Given the description of an element on the screen output the (x, y) to click on. 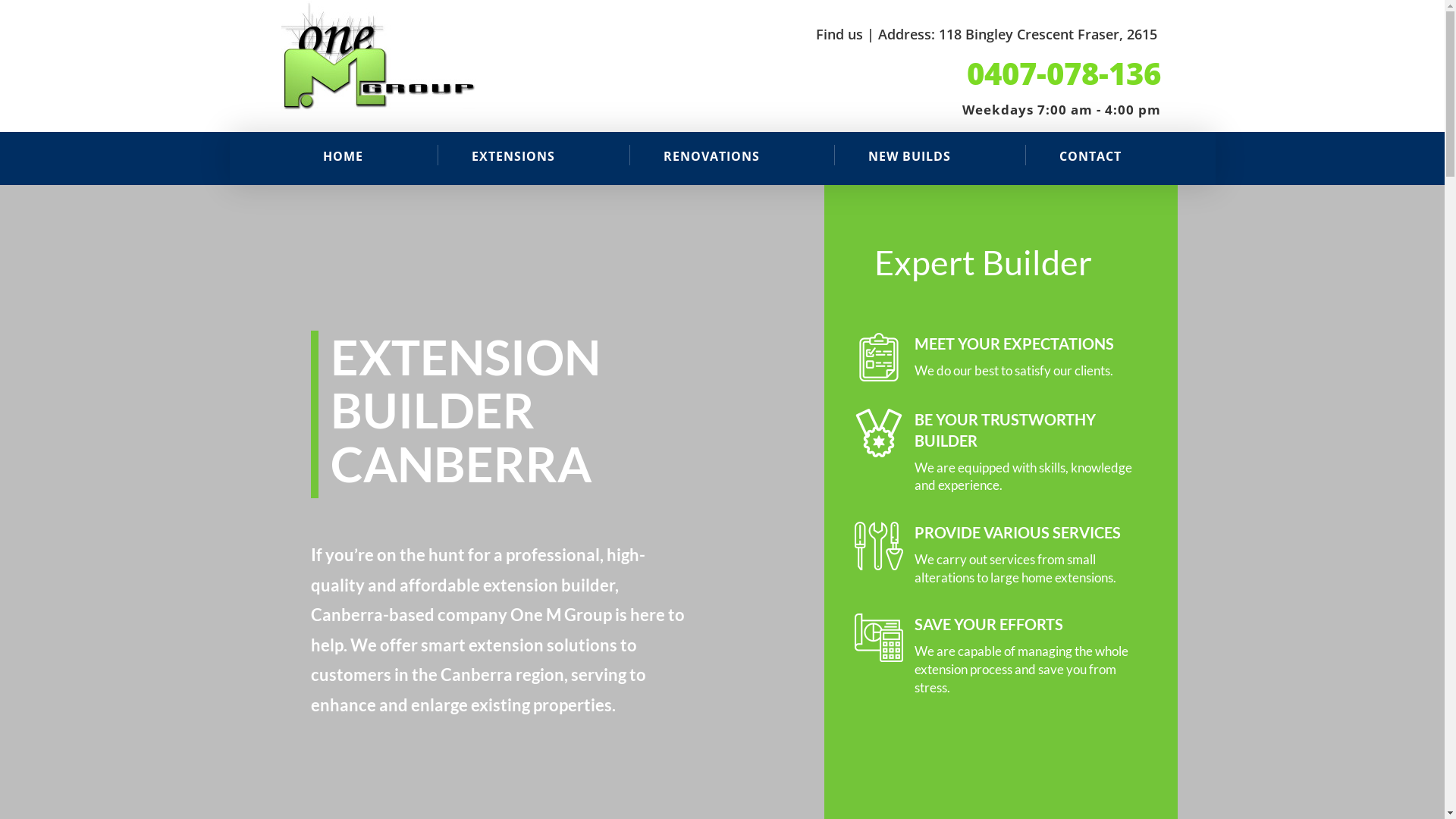
HOME Element type: text (342, 155)
EXTENSIONS Element type: text (513, 155)
Find us | Address: 118 Bingley Crescent Fraser, 2615 Element type: text (986, 34)
CONTACT Element type: text (1090, 155)
RENOVATIONS Element type: text (711, 155)
0407-078-136 Element type: text (1063, 73)
NEW BUILDS Element type: text (909, 155)
